Given the description of an element on the screen output the (x, y) to click on. 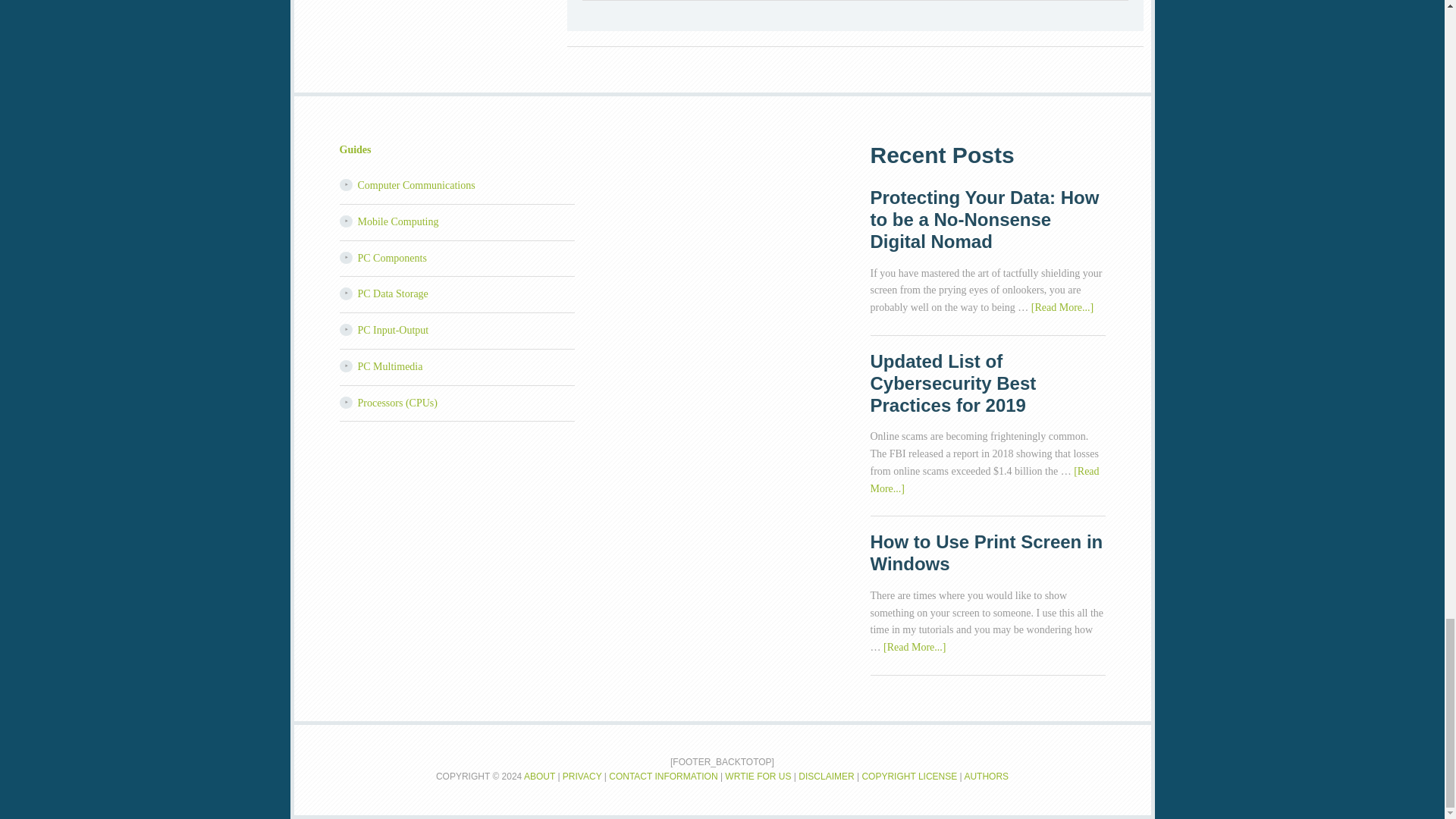
Mobile Computing (398, 221)
Computer Communications (417, 184)
Guides (355, 149)
PC Components (392, 257)
